Given the description of an element on the screen output the (x, y) to click on. 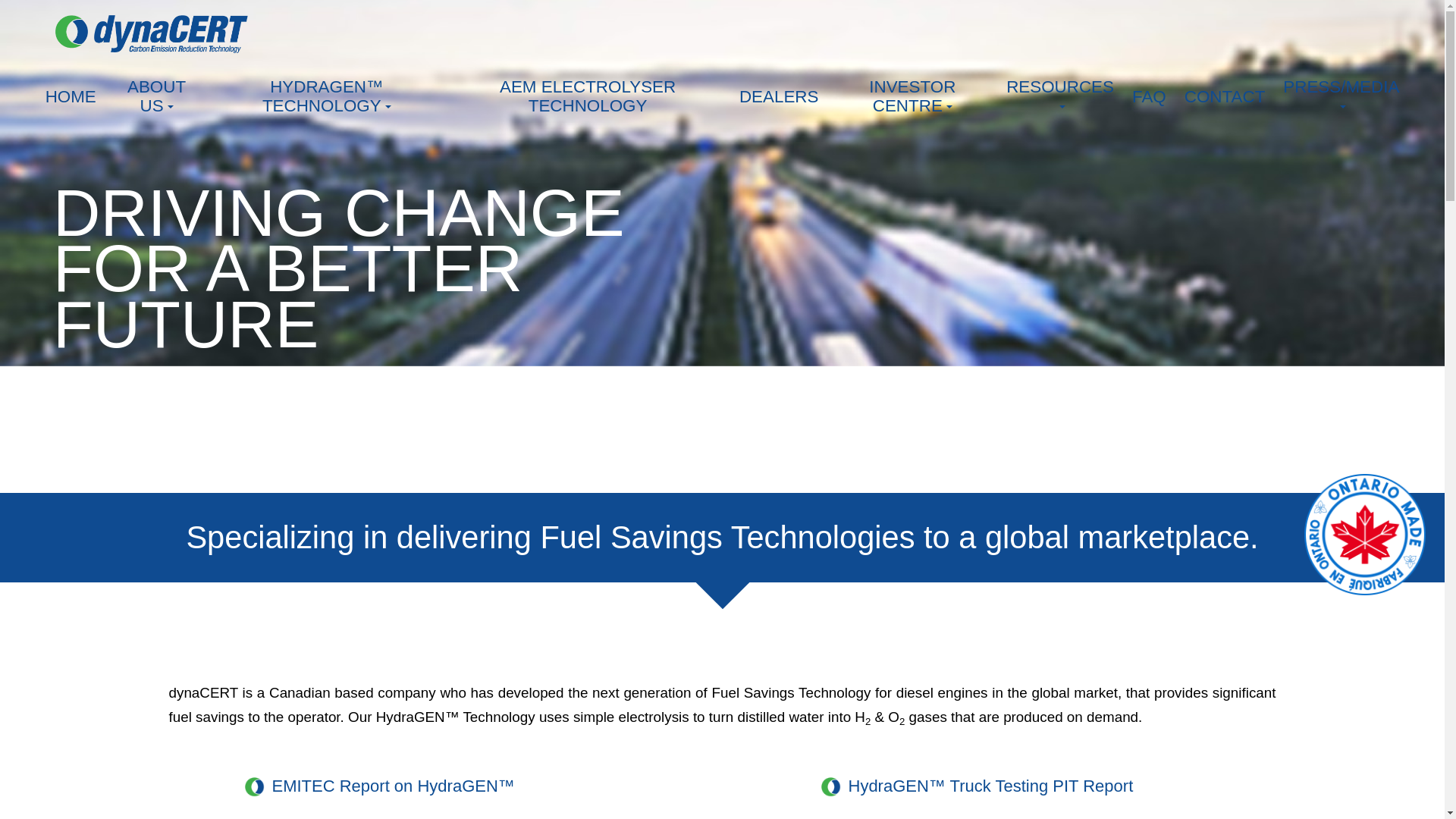
DEALERS (779, 95)
FAQ (1148, 95)
CONTACT (1224, 95)
ABOUT US (156, 95)
RESOURCES (1059, 95)
AEM ELECTROLYSER TECHNOLOGY (587, 95)
HOME (70, 95)
INVESTOR CENTRE (912, 95)
